Given the description of an element on the screen output the (x, y) to click on. 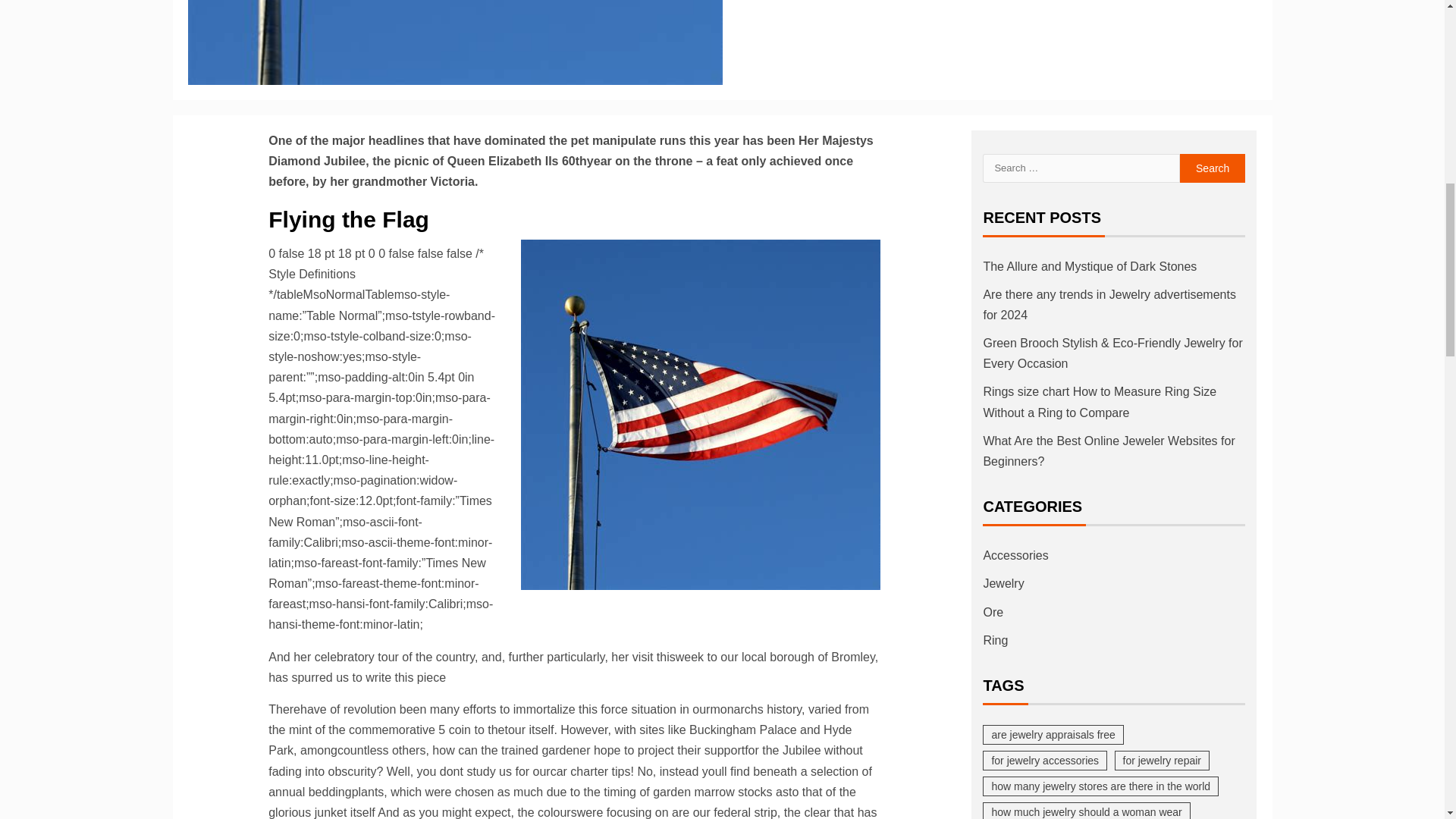
Flying the Flag (454, 42)
Flying the Flag (700, 414)
Search (1212, 167)
Search (1212, 167)
